Given the description of an element on the screen output the (x, y) to click on. 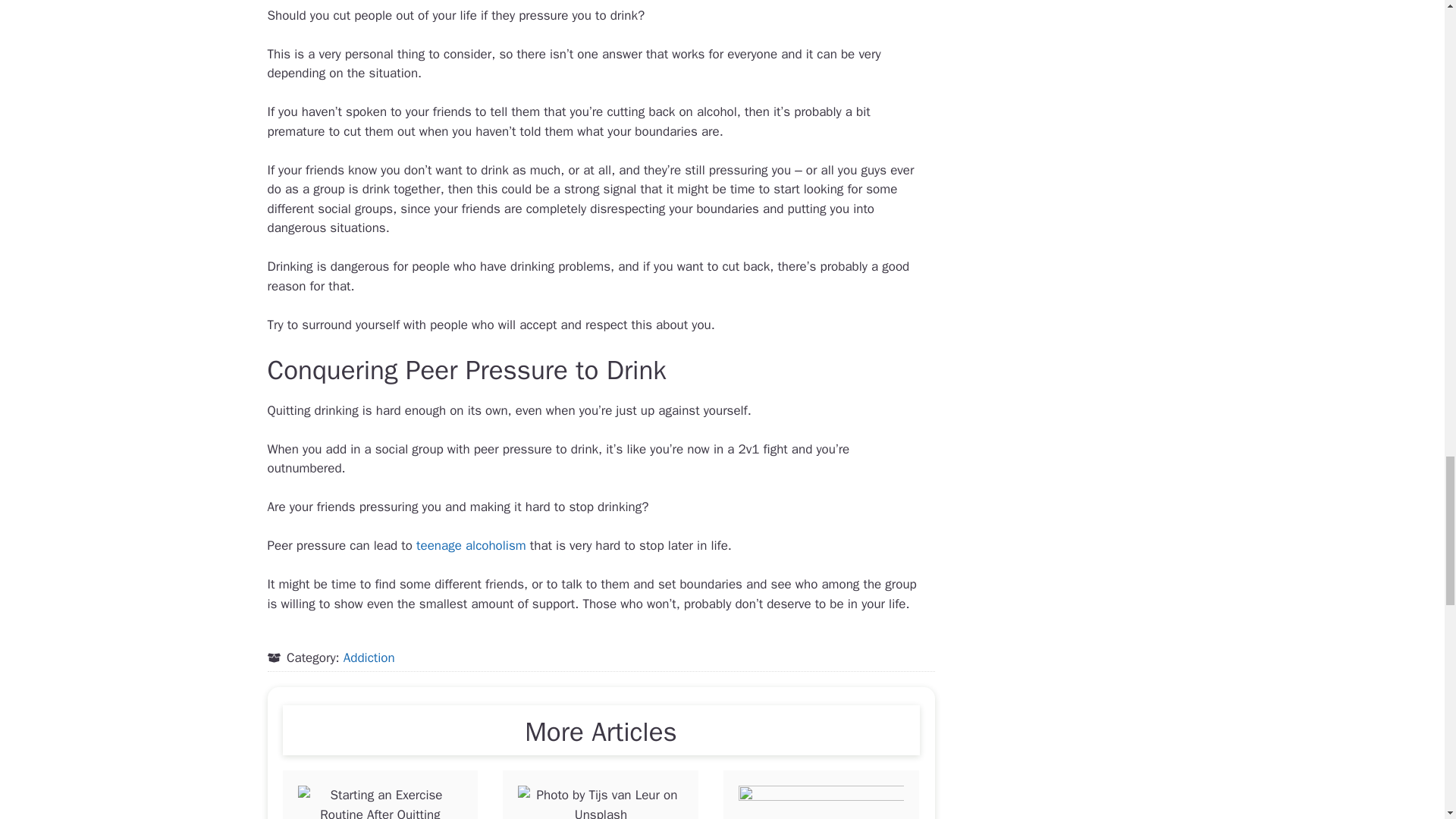
Addiction (368, 657)
teenage alcoholism (470, 545)
